Given the description of an element on the screen output the (x, y) to click on. 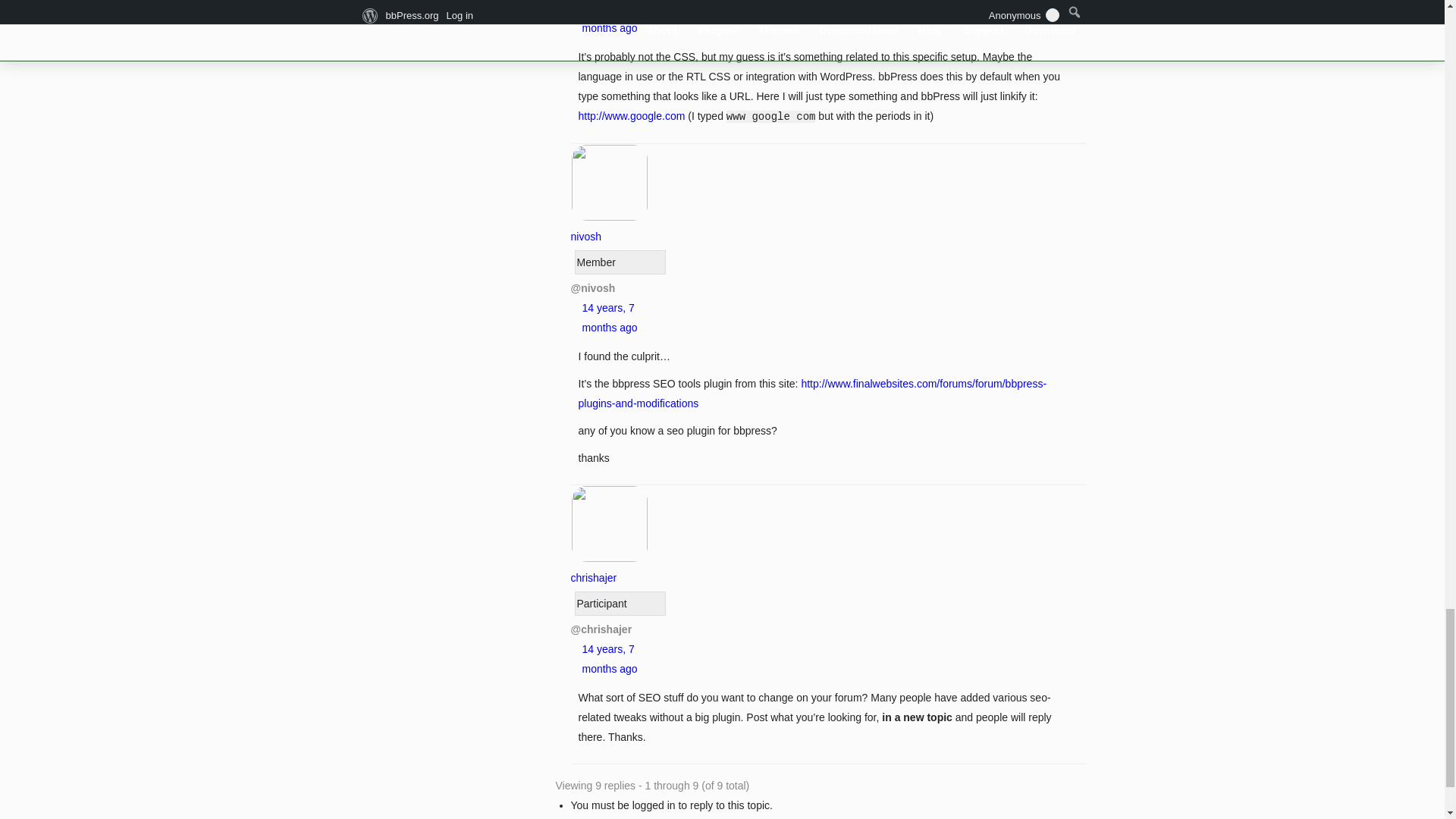
nivosh (608, 226)
14 years, 7 months ago (609, 317)
14 years, 7 months ago (609, 18)
